Given the description of an element on the screen output the (x, y) to click on. 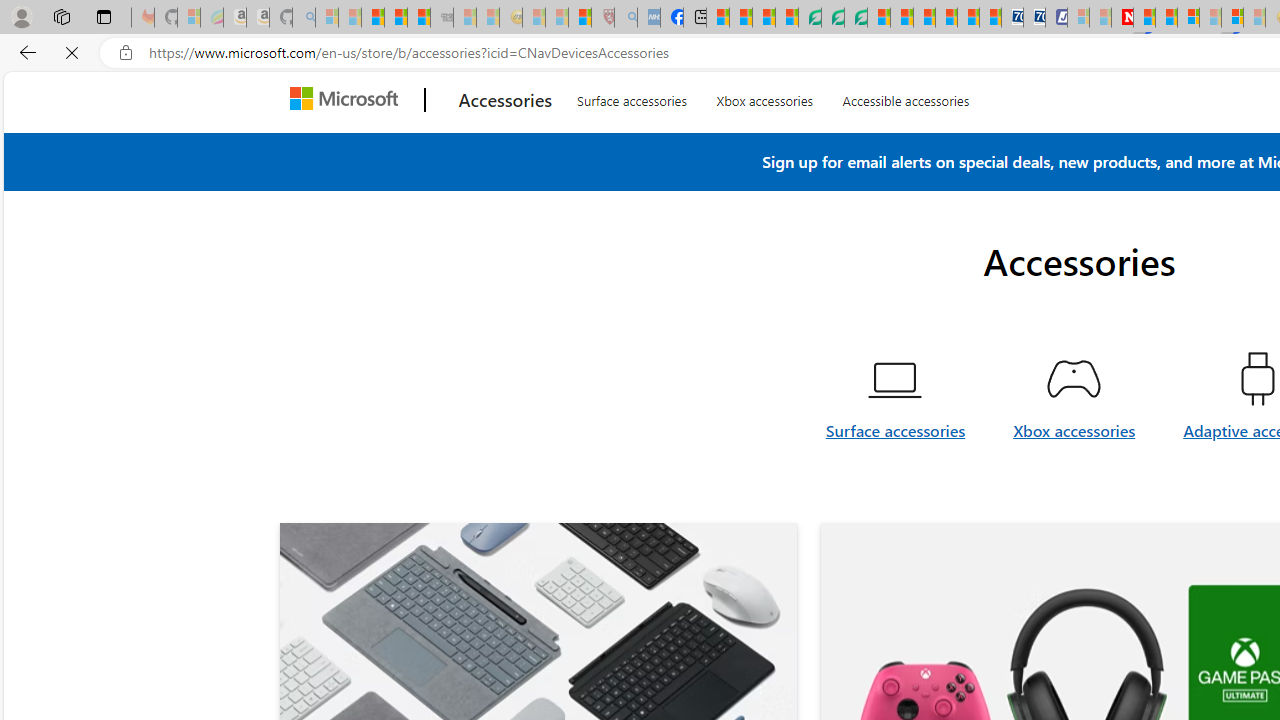
The Weather Channel - MSN (372, 17)
Accessible accessories (906, 144)
